Given the description of an element on the screen output the (x, y) to click on. 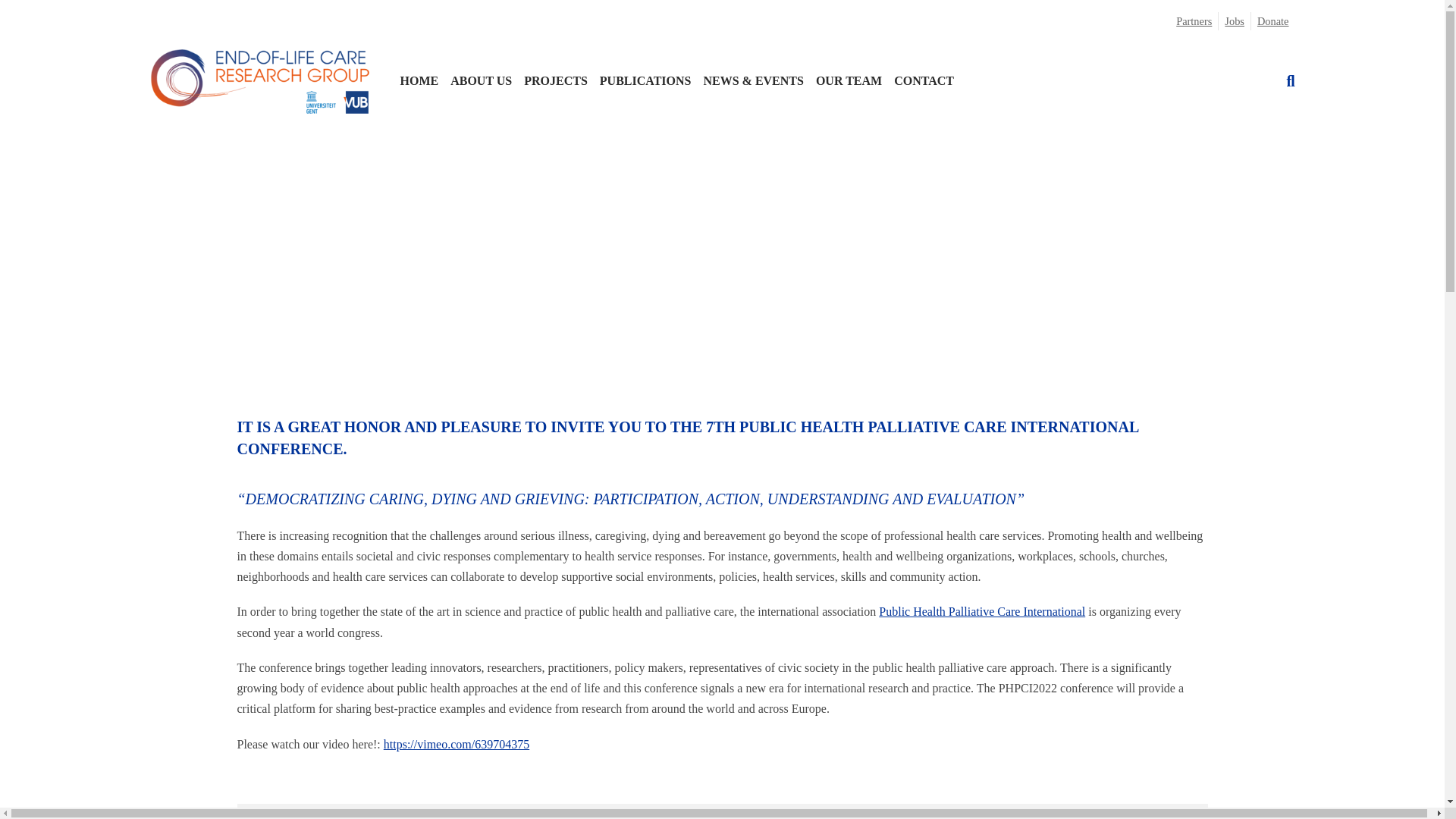
ABOUT US (481, 80)
PUBLICATIONS (645, 80)
Jobs (1233, 21)
PROJECTS (556, 80)
Go to the homepage (259, 81)
Partners (1193, 21)
HOME (419, 80)
Public Health Palliative Care International (981, 611)
CONTACT (923, 80)
Donate (1272, 21)
OUR TEAM (848, 80)
